Given the description of an element on the screen output the (x, y) to click on. 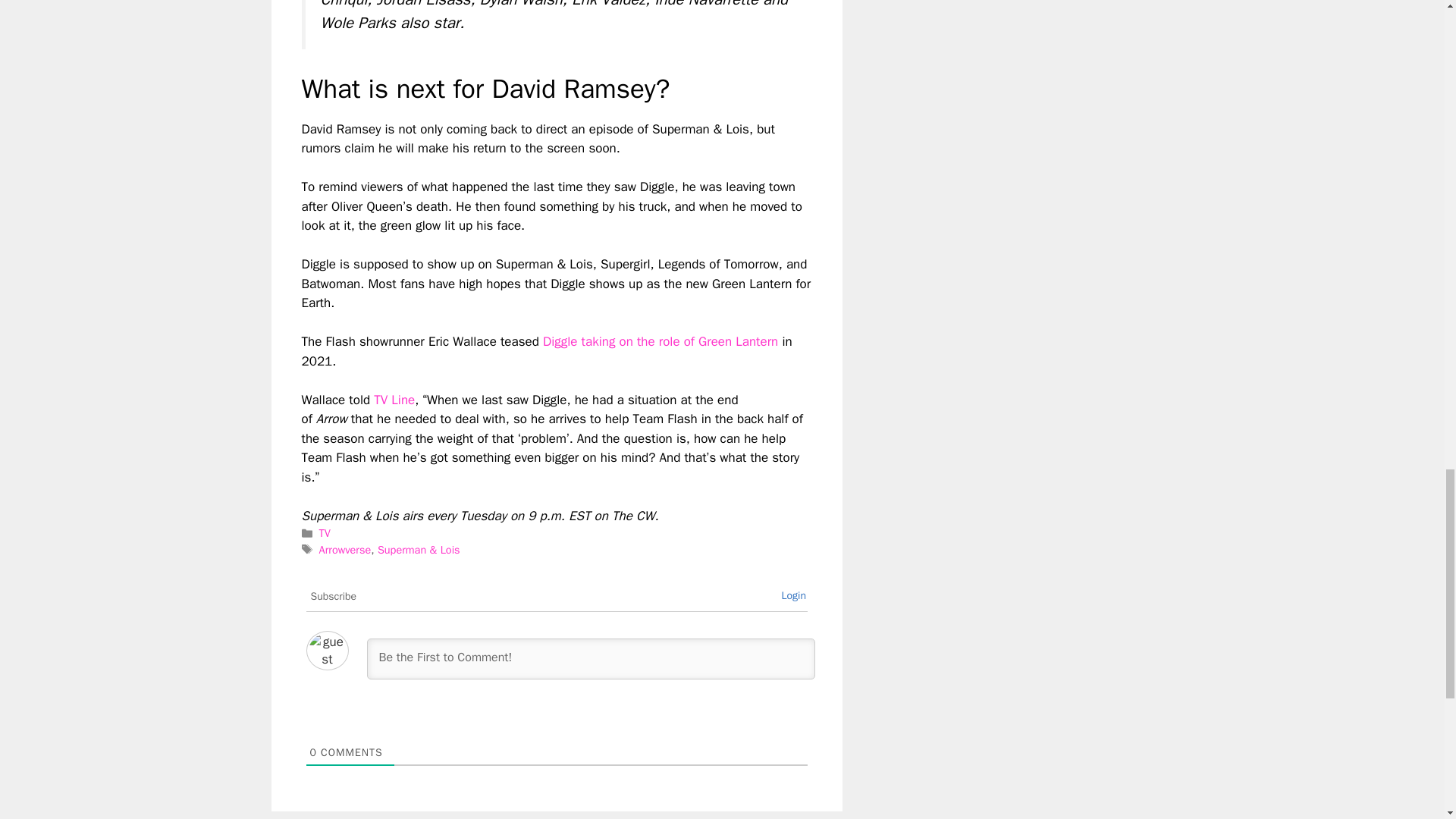
Login (793, 594)
TV Line (394, 399)
Diggle taking on the role of Green Lantern (660, 341)
Arrowverse (344, 549)
